Given the description of an element on the screen output the (x, y) to click on. 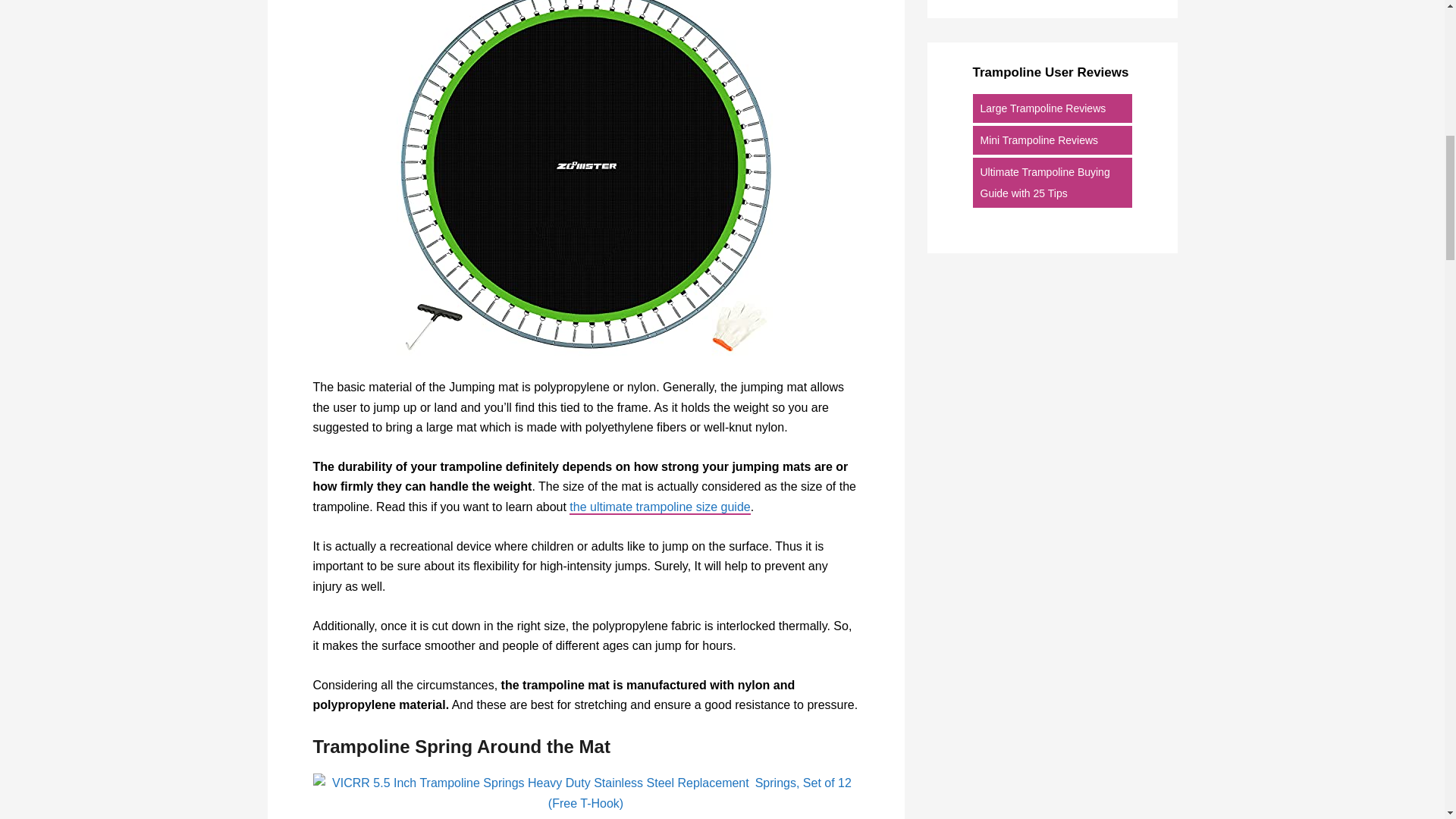
the ultimate trampoline size guide (659, 507)
